Given the description of an element on the screen output the (x, y) to click on. 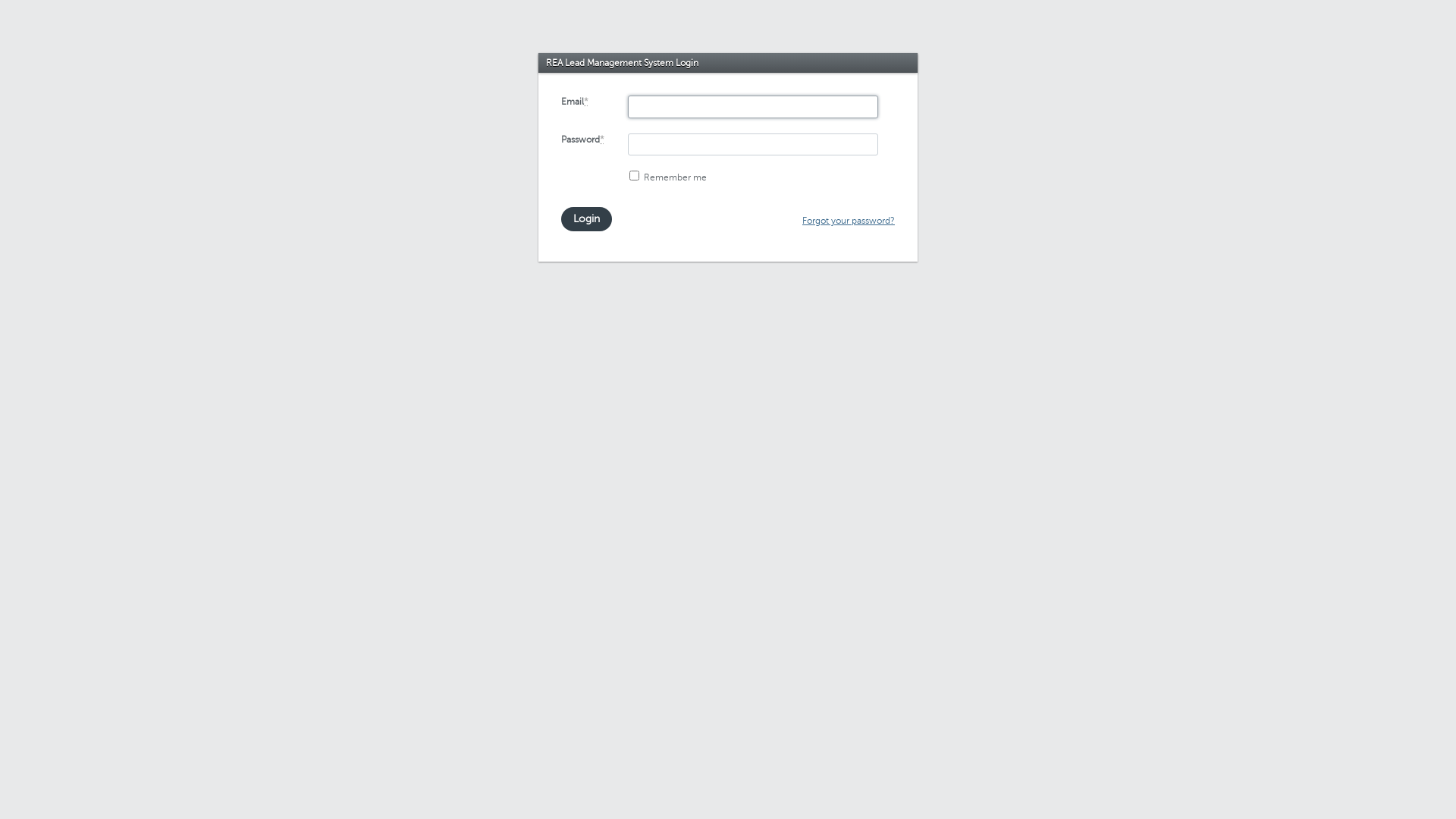
Login Element type: text (586, 219)
Forgot your password? Element type: text (848, 220)
